Given the description of an element on the screen output the (x, y) to click on. 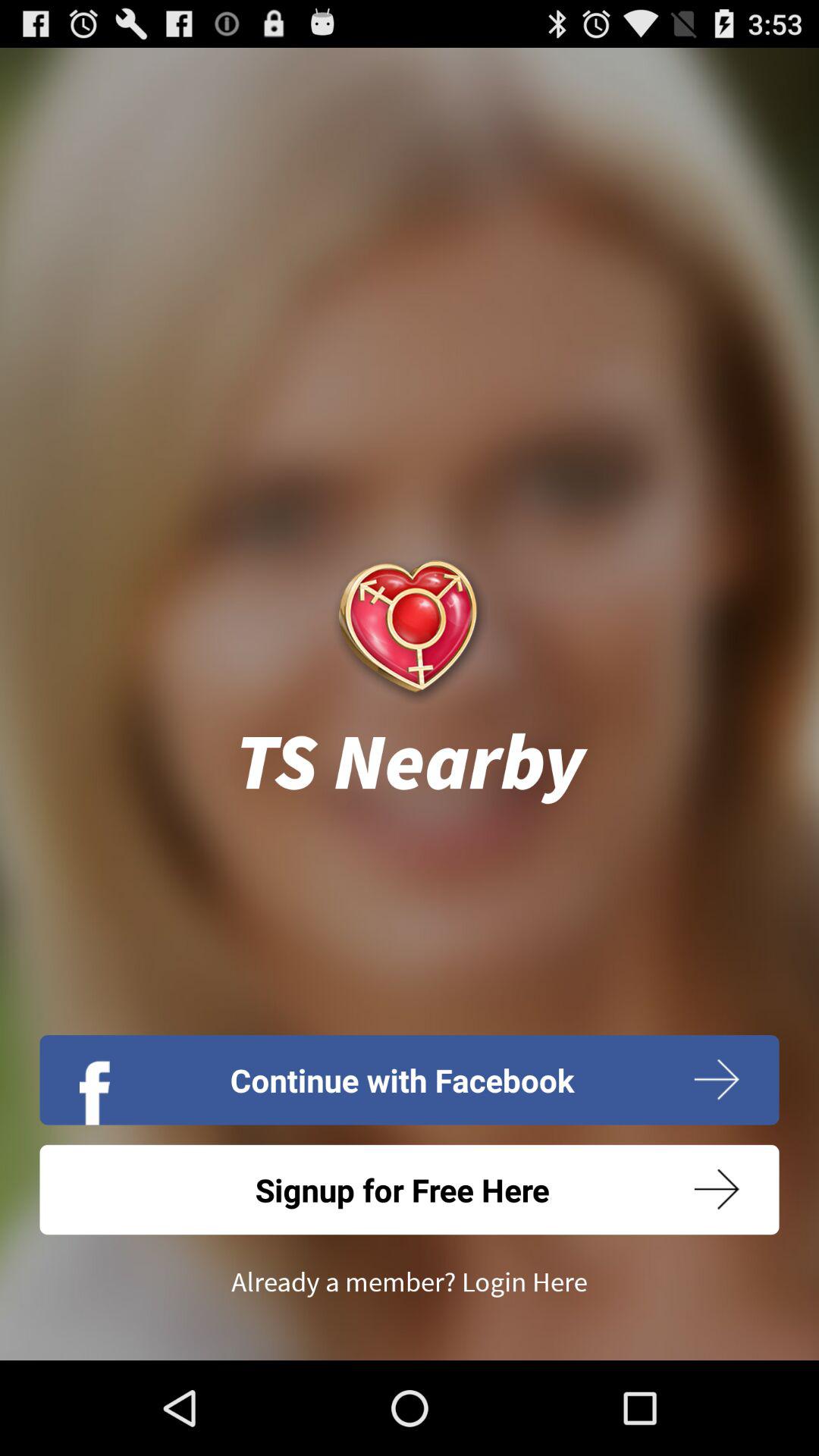
open the signup for free button (409, 1189)
